Given the description of an element on the screen output the (x, y) to click on. 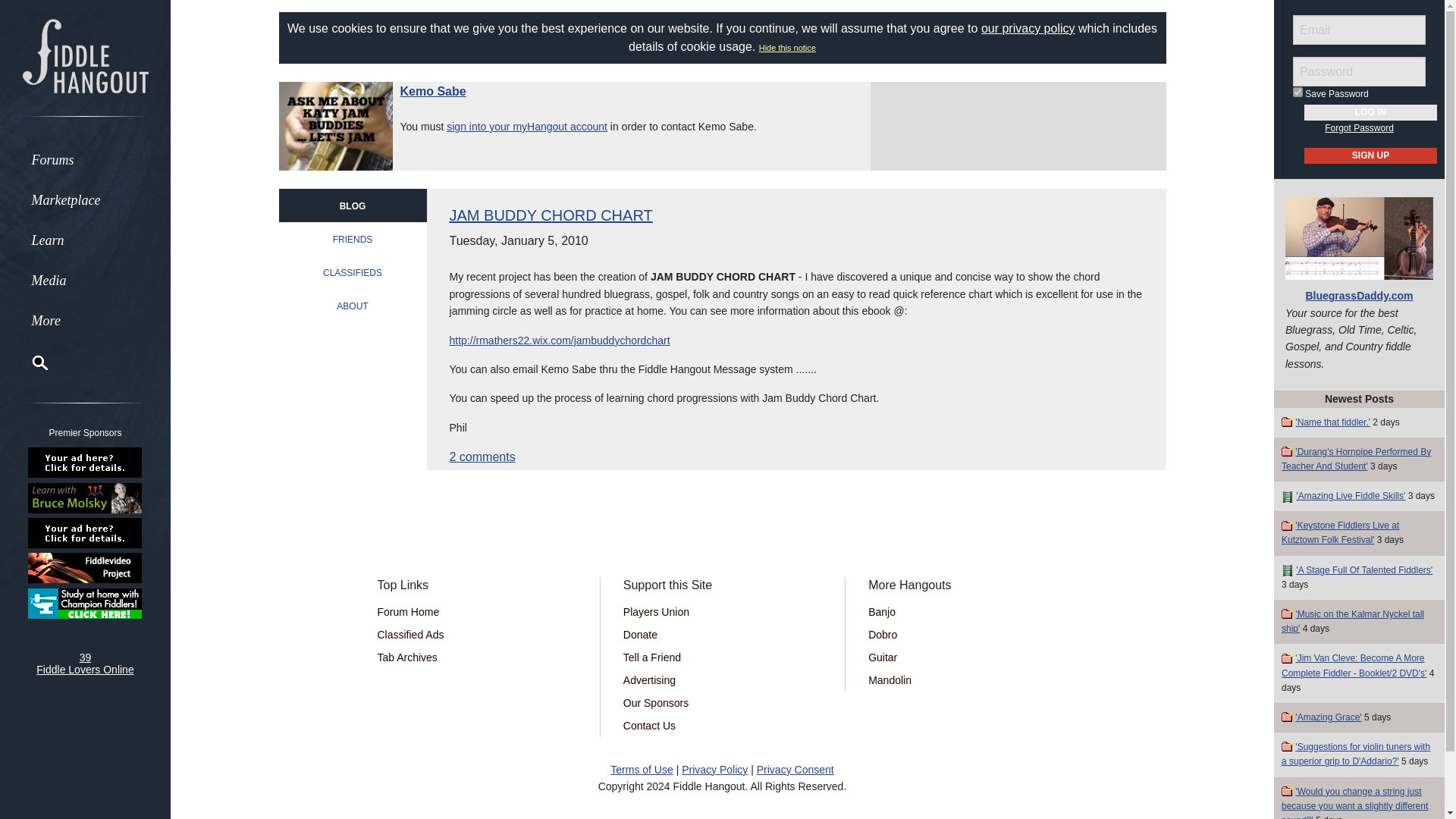
Log In (1370, 112)
Go to Home Page (85, 54)
Learn about Premier Sponsorship (84, 532)
Sign Up (1370, 155)
Marketplace (85, 199)
true (1297, 91)
My Talent Forge (84, 603)
Old-Time Fiddle with Bruce Molsky (84, 497)
The Fiddlevideo Project (84, 567)
Forums (85, 159)
Learn about Premier Sponsorship (84, 462)
